Given the description of an element on the screen output the (x, y) to click on. 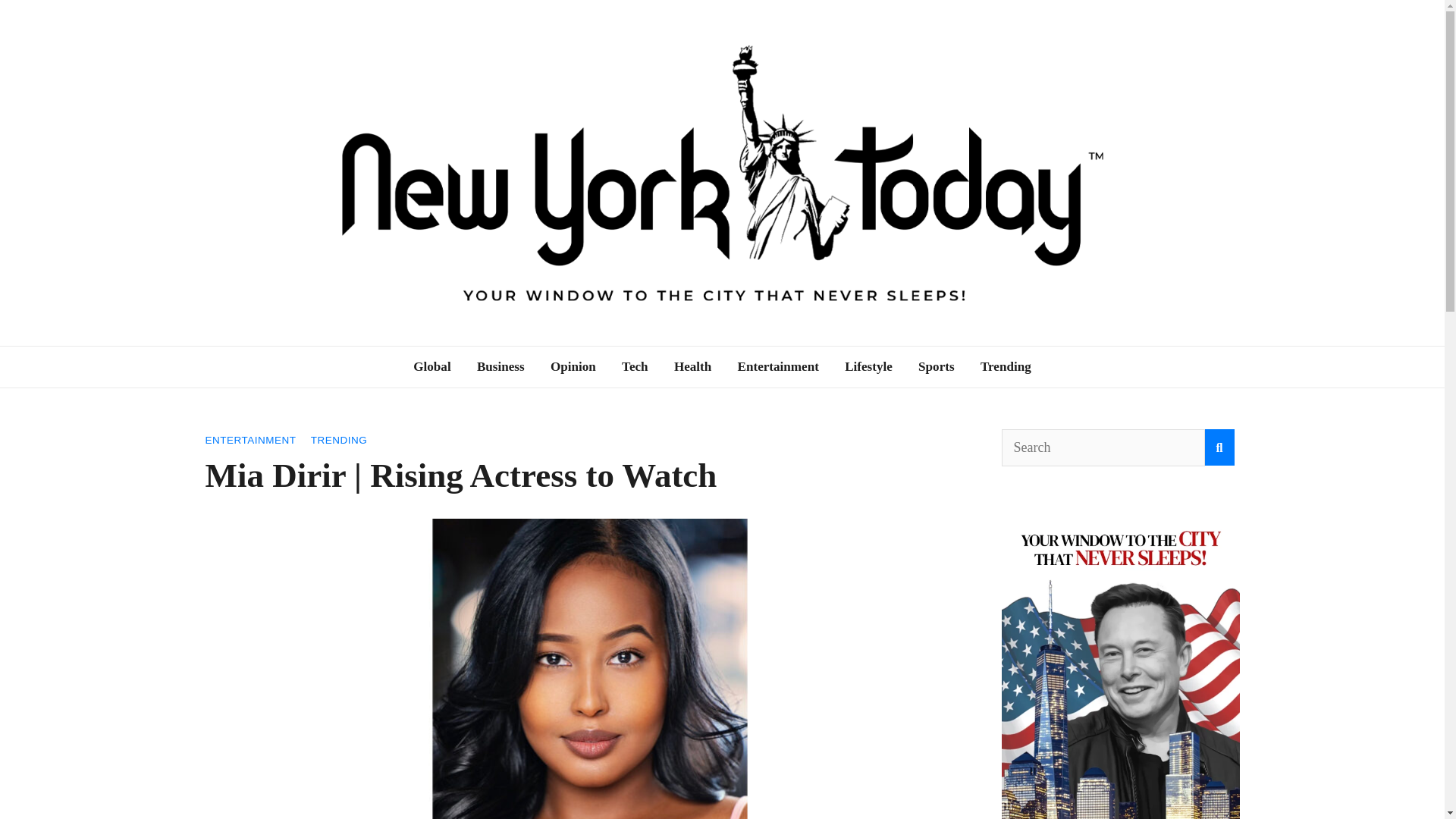
Sports (936, 366)
New York Today (348, 355)
ENTERTAINMENT (250, 440)
Tech (634, 366)
Health (692, 366)
Entertainment (777, 366)
Trending (1005, 366)
Global (431, 366)
TRENDING (339, 440)
Lifestyle (868, 366)
Opinion (572, 366)
Business (500, 366)
